Given the description of an element on the screen output the (x, y) to click on. 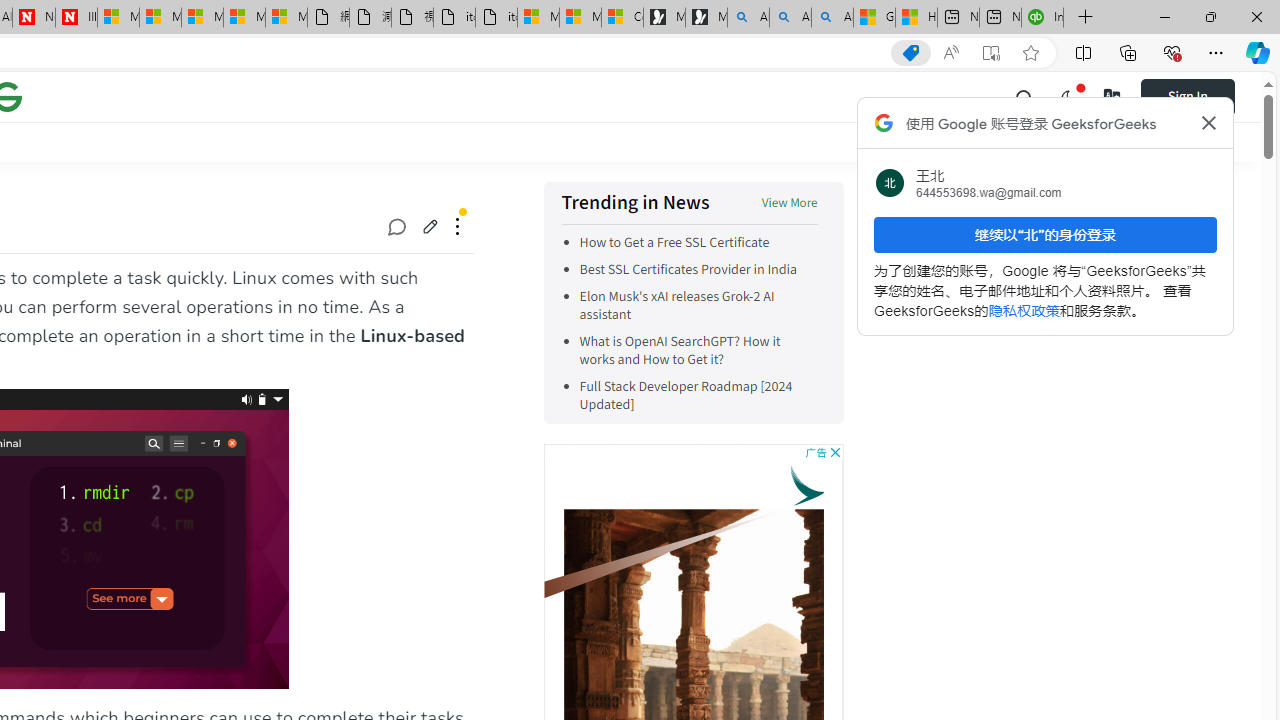
How to Get a Free SSL Certificate (697, 242)
Class: Bz112c Bz112c-r9oPif (1208, 122)
How to Use a TV as a Computer Monitor (916, 17)
Consumer Health Data Privacy Policy (621, 17)
Best SSL Certificates Provider in India (687, 269)
Elon Musk's xAI releases Grok-2 AI assistant (676, 305)
